Given the description of an element on the screen output the (x, y) to click on. 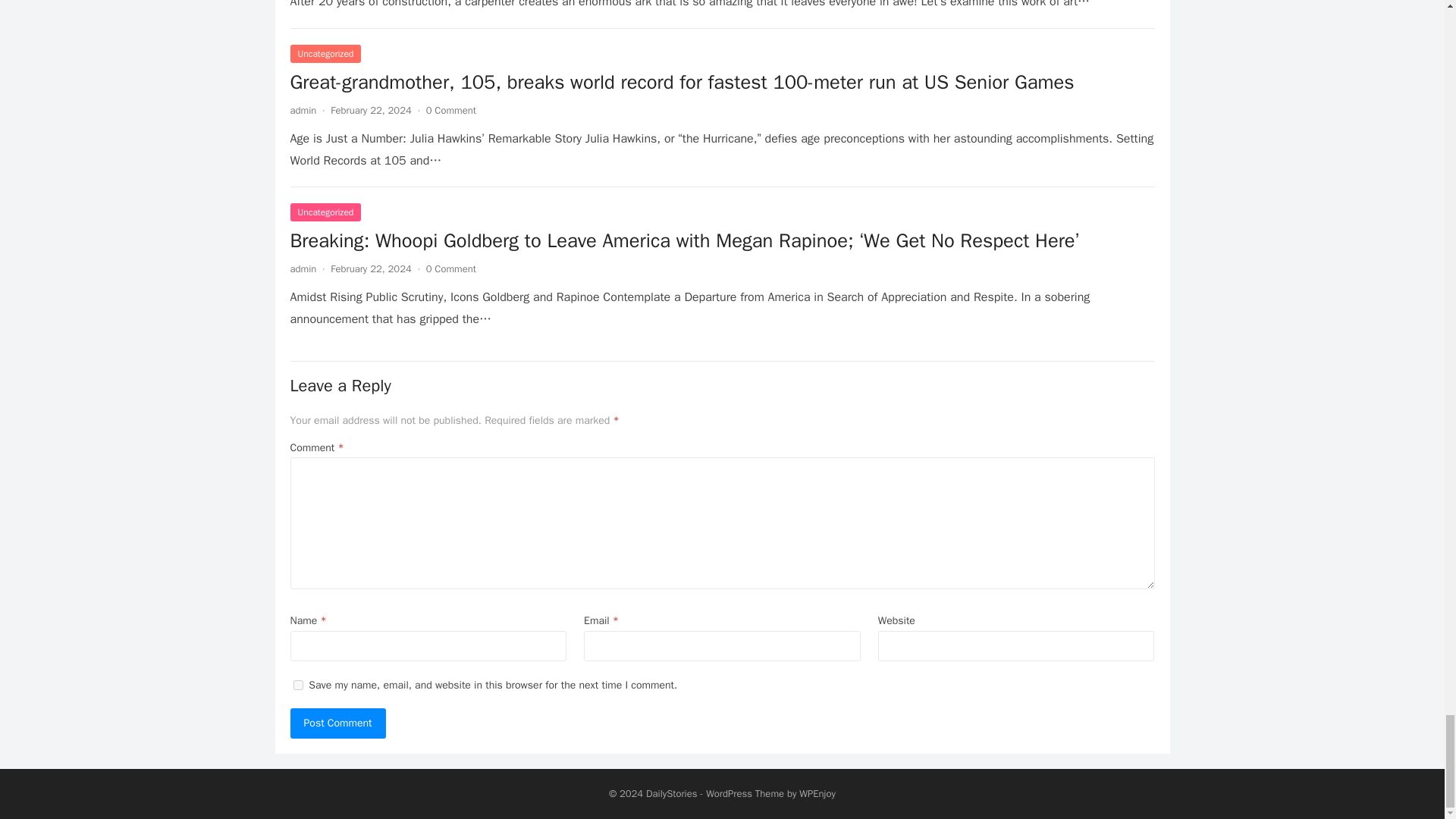
Posts by admin (302, 110)
0 Comment (451, 110)
admin (302, 268)
admin (302, 110)
DailyStories (671, 793)
Posts by admin (302, 268)
yes (297, 685)
Post Comment (337, 723)
Uncategorized (325, 212)
Uncategorized (325, 54)
